Given the description of an element on the screen output the (x, y) to click on. 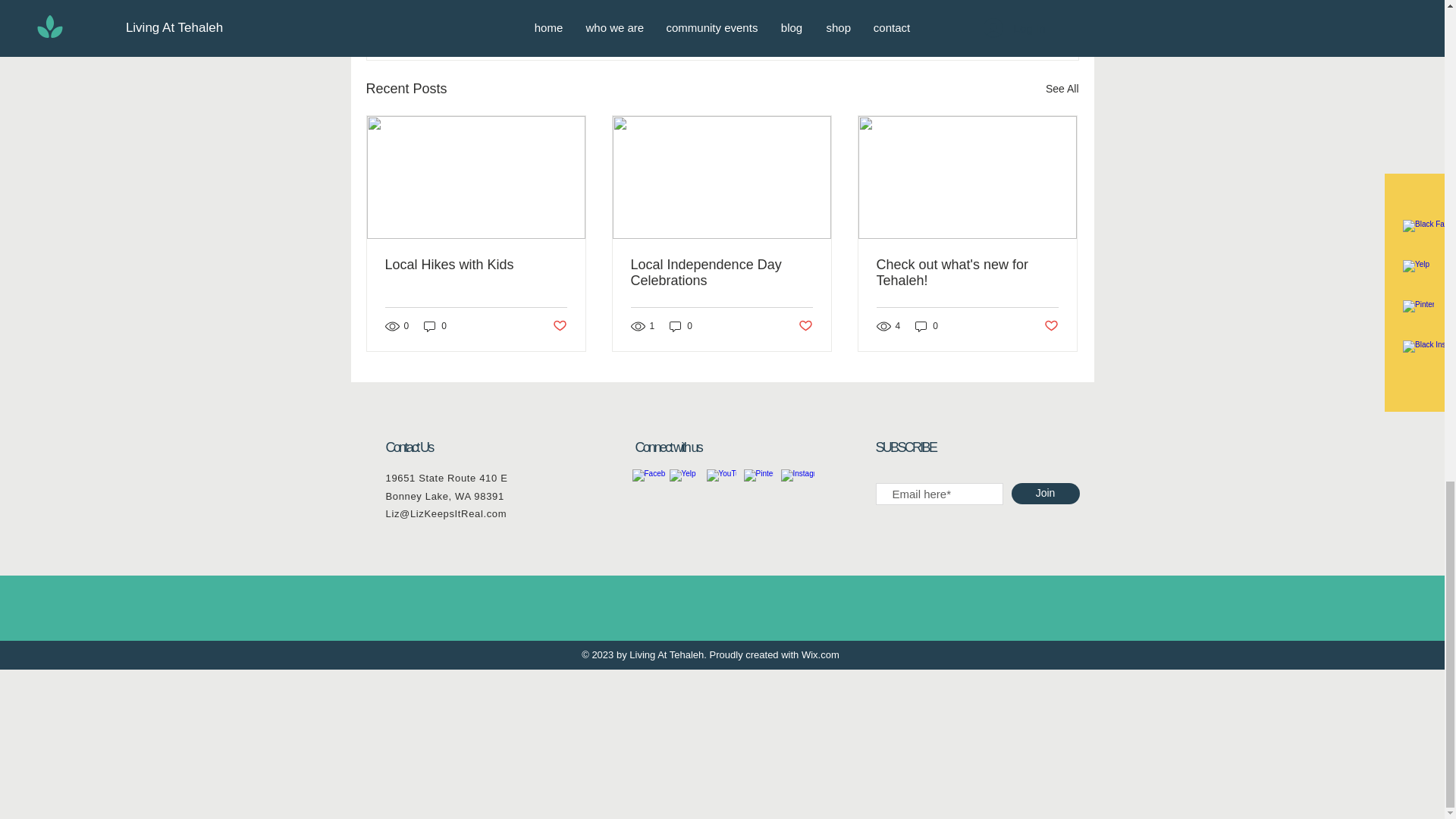
See All (1061, 88)
Post not marked as liked (558, 326)
Post not marked as liked (995, 7)
Local Independence Day Celebrations (721, 273)
Post not marked as liked (804, 326)
0 (435, 326)
0 (681, 326)
Local Hikes with Kids (476, 264)
Check out what's new for Tehaleh! (967, 273)
